Given the description of an element on the screen output the (x, y) to click on. 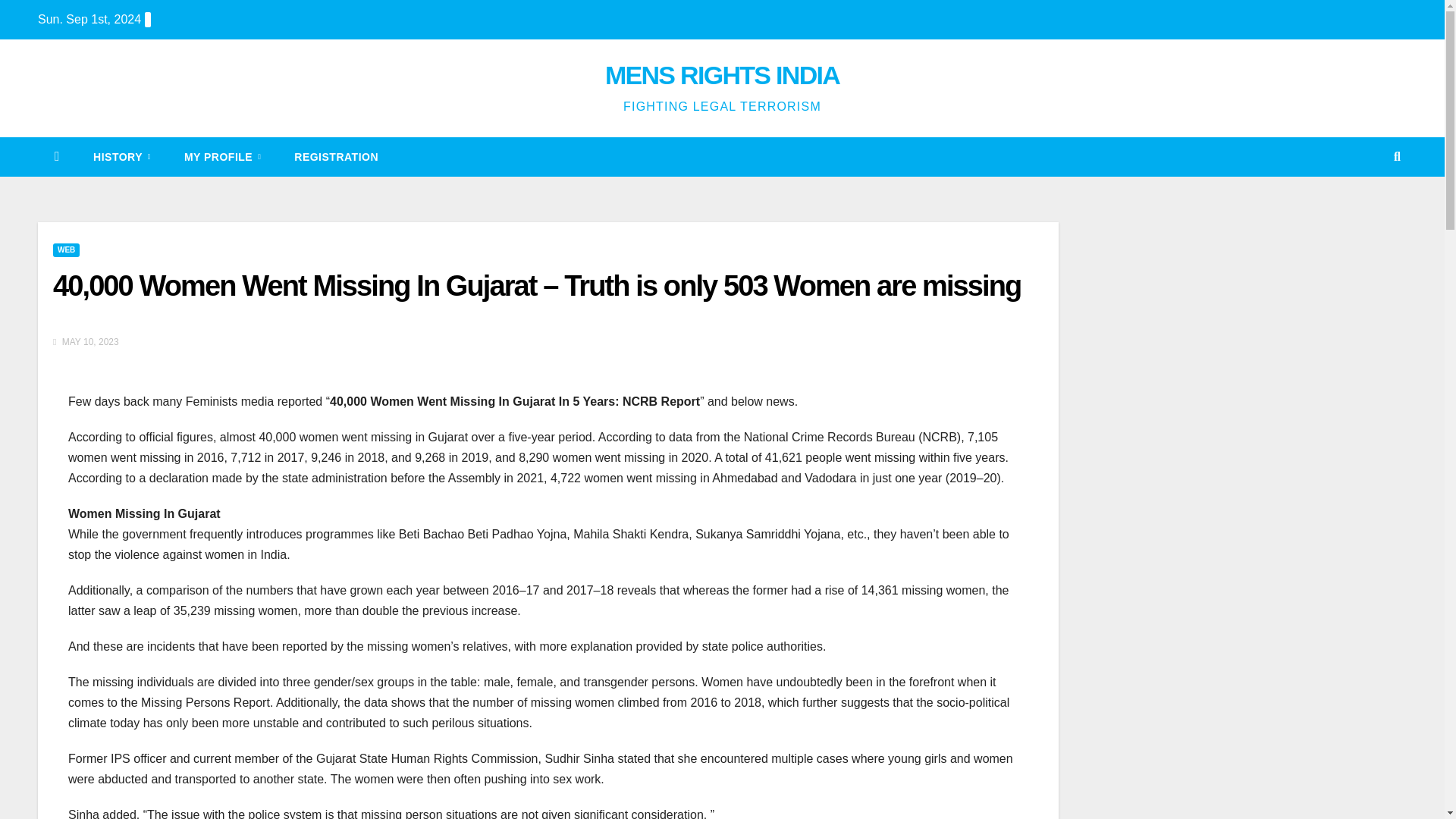
HISTORY (122, 156)
WEB (66, 250)
My Profile (222, 156)
MY PROFILE (222, 156)
Registration (336, 156)
REGISTRATION (336, 156)
History (122, 156)
MENS RIGHTS INDIA (722, 74)
